Given the description of an element on the screen output the (x, y) to click on. 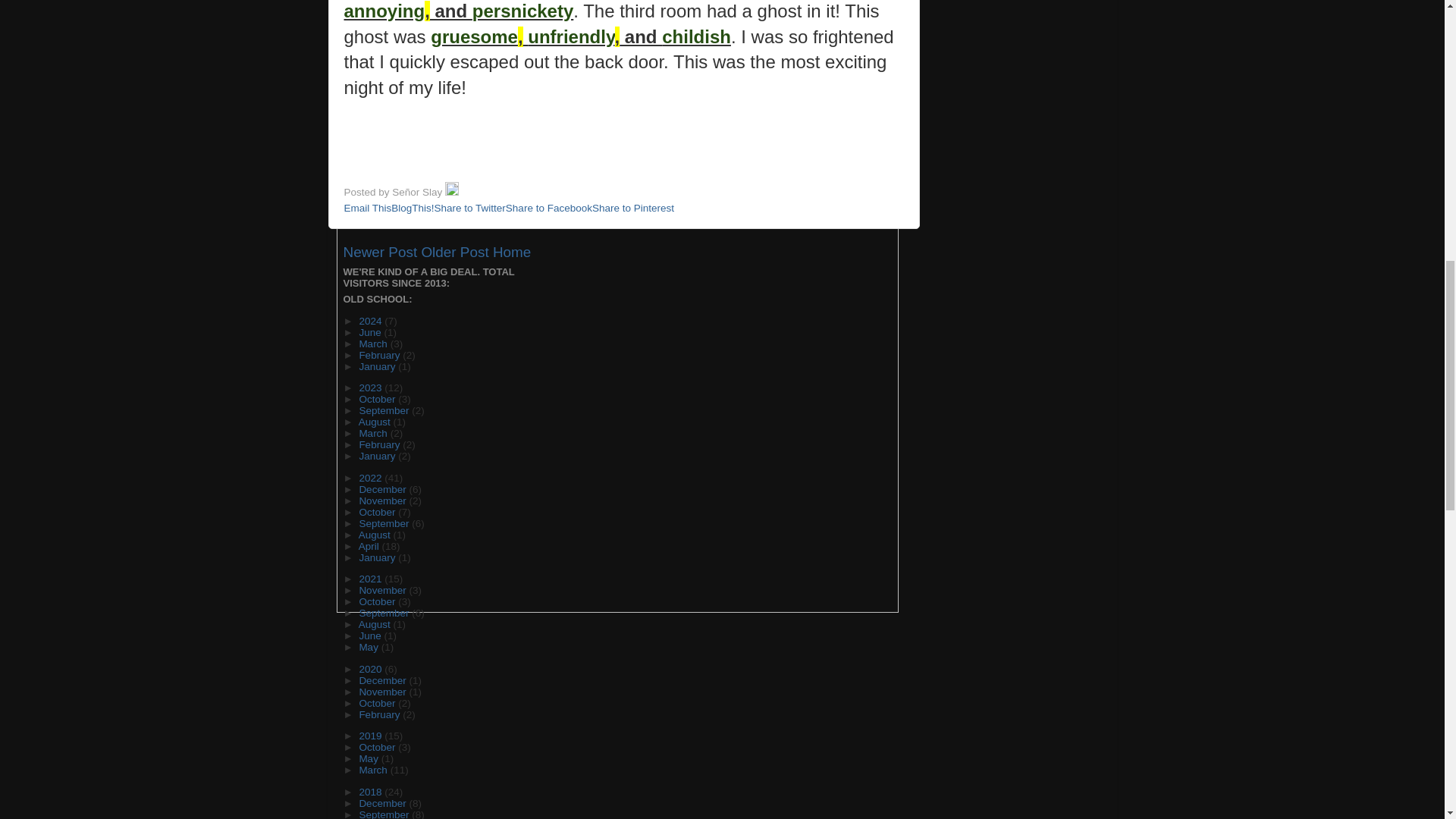
Newer Post (379, 252)
August (375, 421)
Email This (367, 207)
March (374, 343)
October (377, 398)
Share to Twitter (469, 207)
Older Post (453, 252)
Share to Pinterest (633, 207)
September (385, 410)
BlogThis! (412, 207)
